Given the description of an element on the screen output the (x, y) to click on. 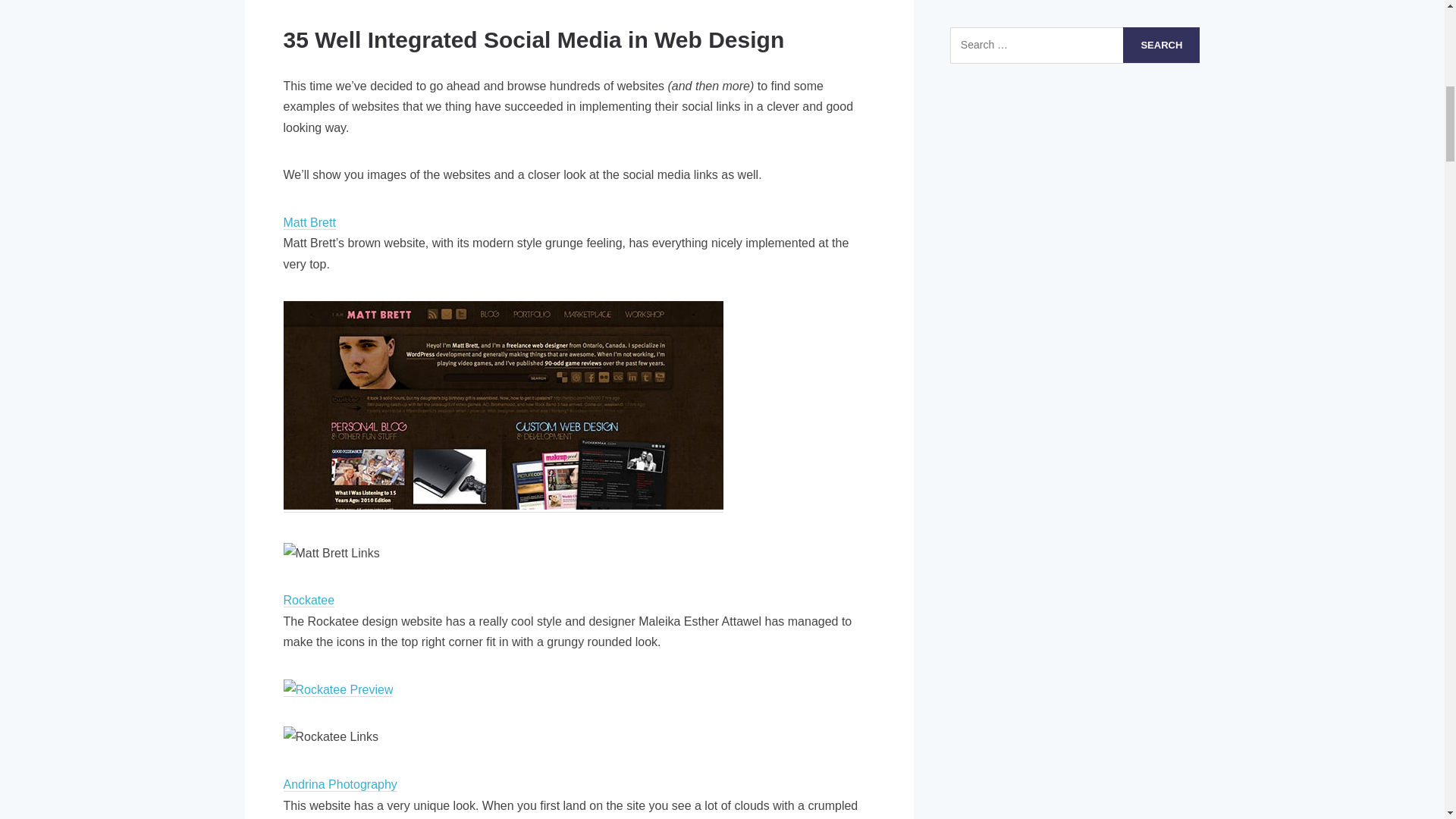
Andrina Photography (340, 784)
Search (1160, 45)
Rockatee (308, 600)
Rockatee Preview (338, 690)
Rockatee Links (330, 736)
Matt Brett (309, 223)
Search (1160, 45)
Matt Brett Preview (503, 405)
Matt Brett Links (331, 553)
